Given the description of an element on the screen output the (x, y) to click on. 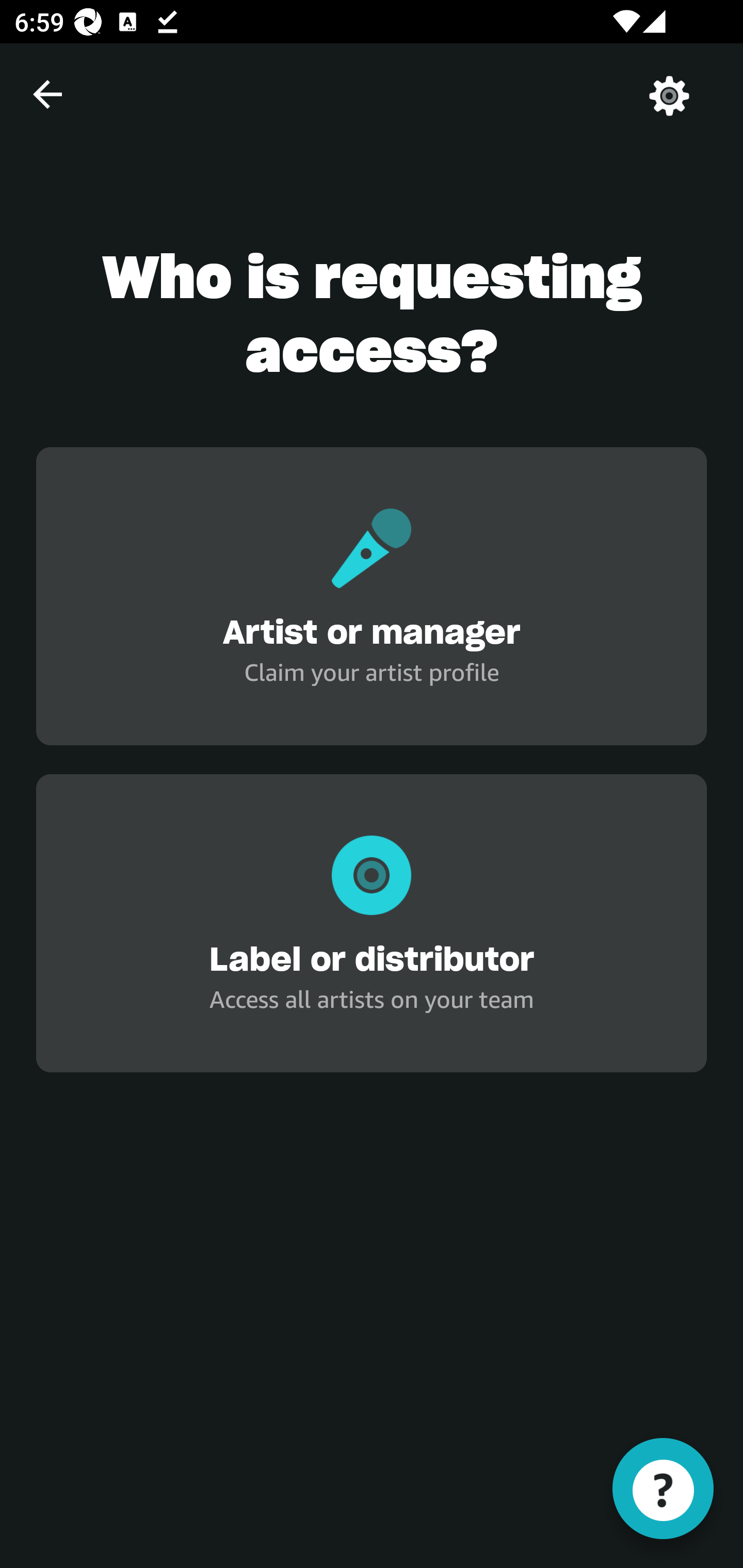
ArtistSelect, back (47, 93)
